Given the description of an element on the screen output the (x, y) to click on. 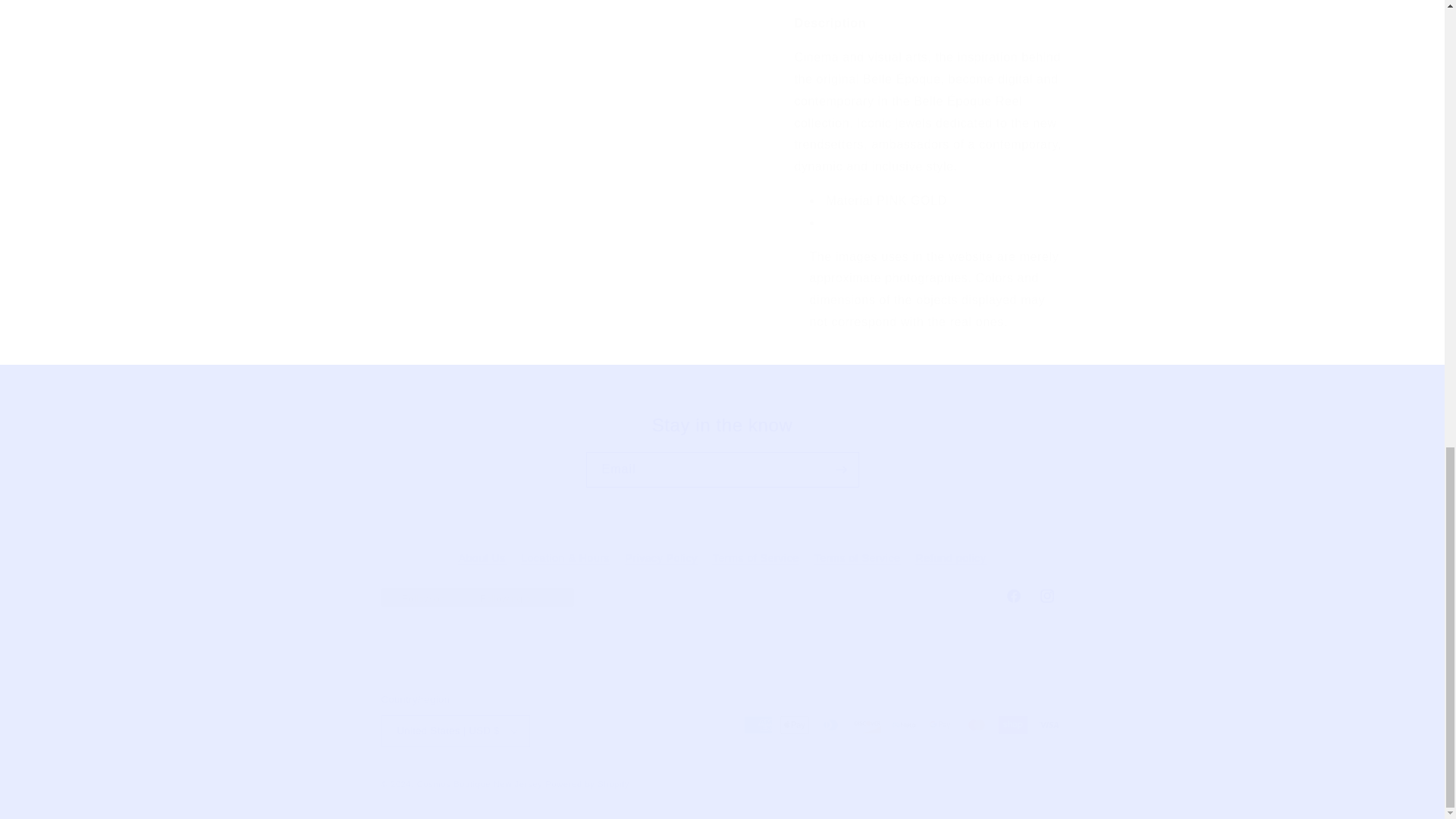
Stay in the know (721, 595)
Email (721, 424)
